Given the description of an element on the screen output the (x, y) to click on. 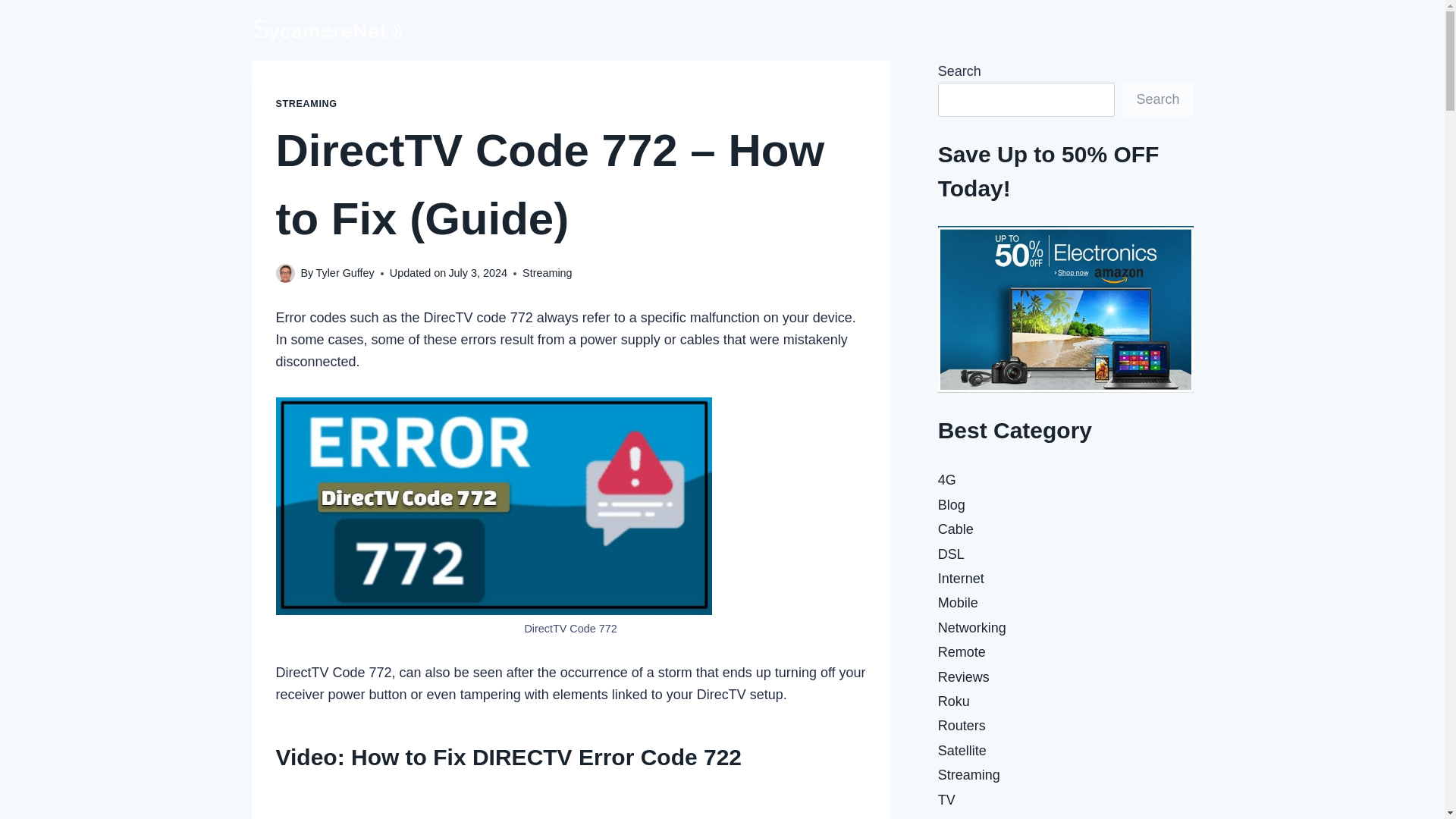
Streaming (999, 30)
Networking (905, 30)
Mobile (815, 30)
Tyler Guffey (344, 272)
STREAMING (306, 103)
Streaming (547, 272)
Home (672, 30)
Reviews (1076, 30)
Blog (1135, 30)
Internet (740, 30)
